Given the description of an element on the screen output the (x, y) to click on. 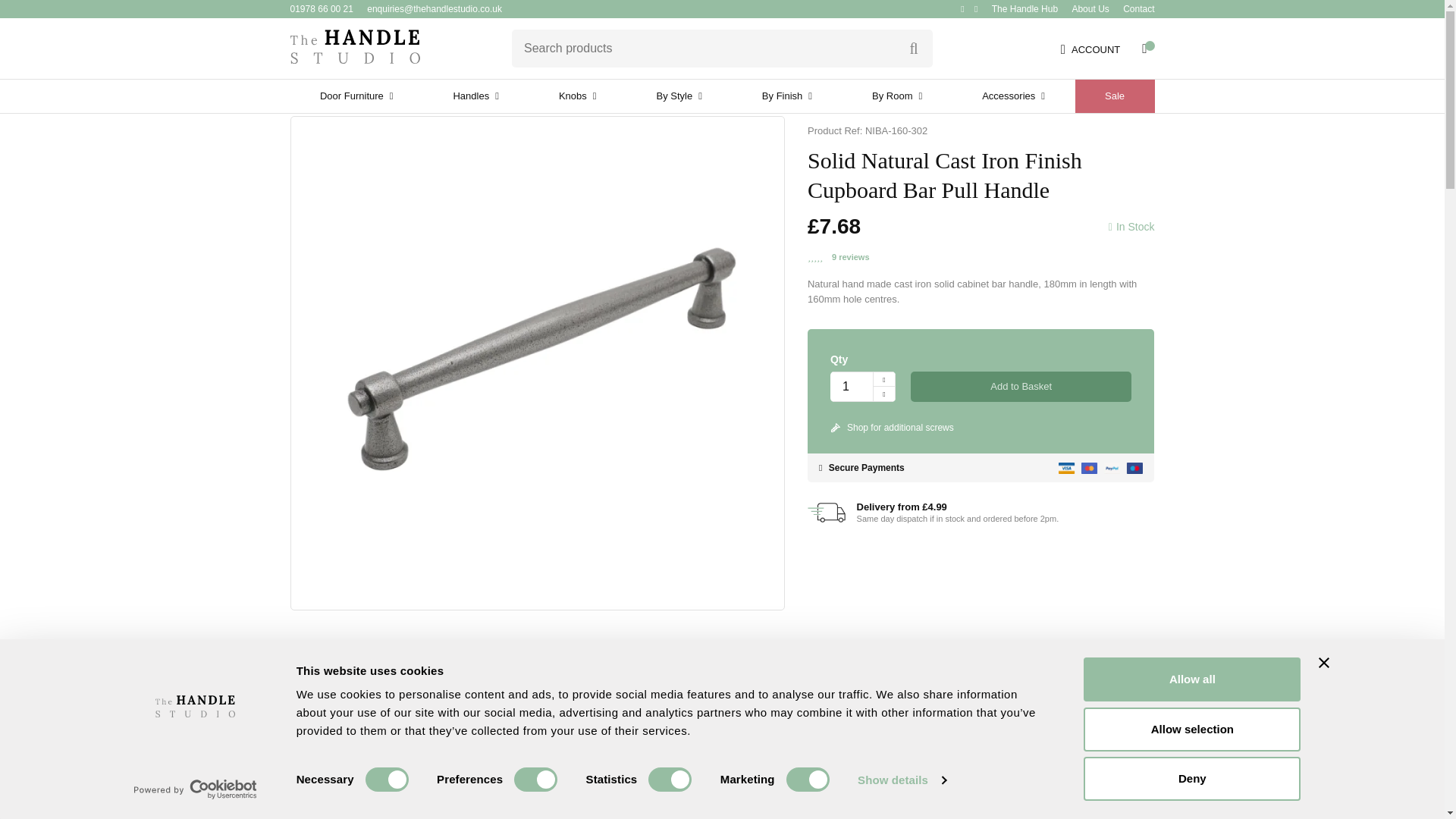
Availability (1131, 227)
Add to Basket (1021, 386)
Show details (900, 780)
1 (851, 386)
9 reviews (850, 256)
Qty (851, 386)
